Given the description of an element on the screen output the (x, y) to click on. 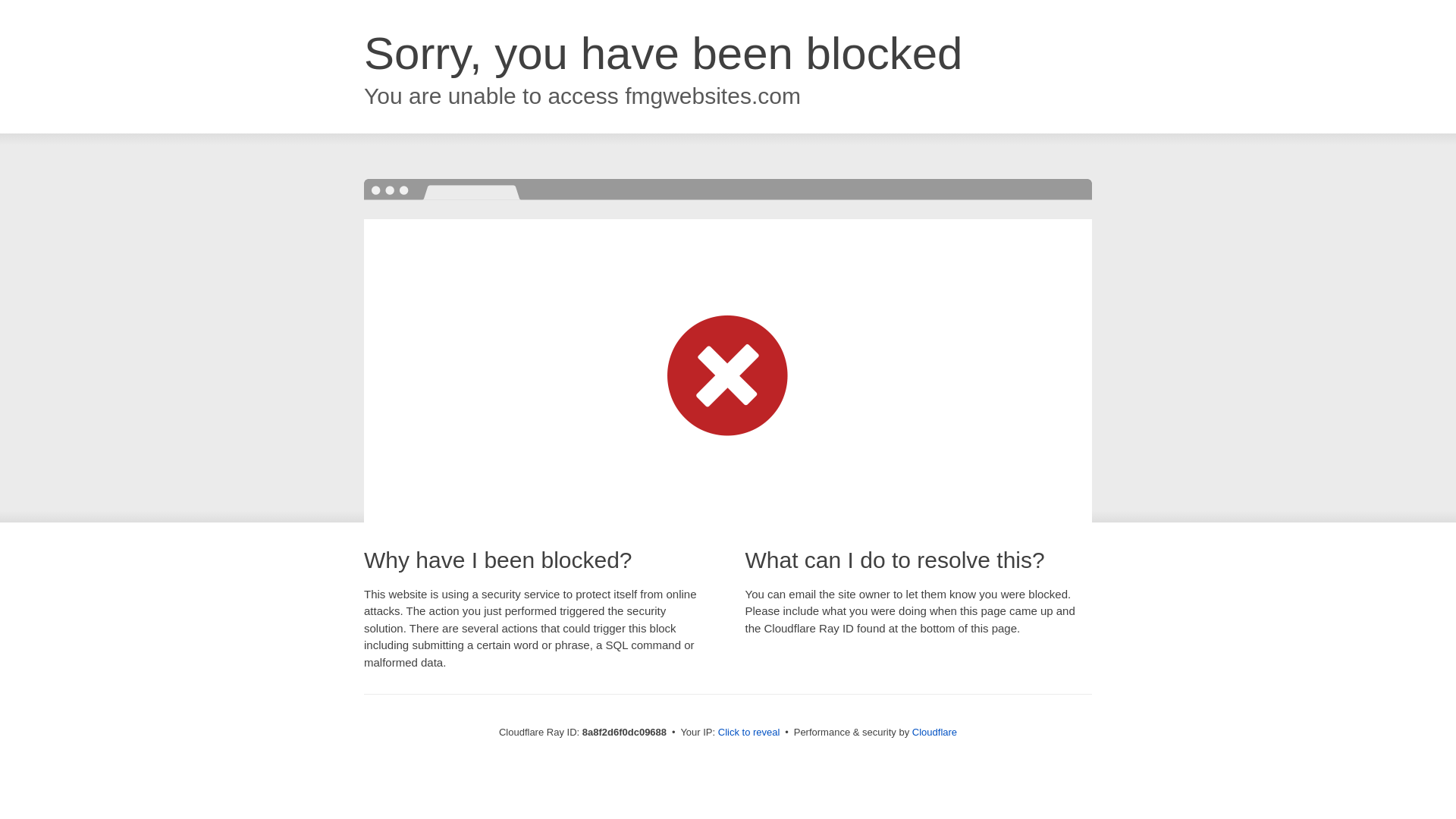
Cloudflare (934, 731)
Click to reveal (748, 732)
